Given the description of an element on the screen output the (x, y) to click on. 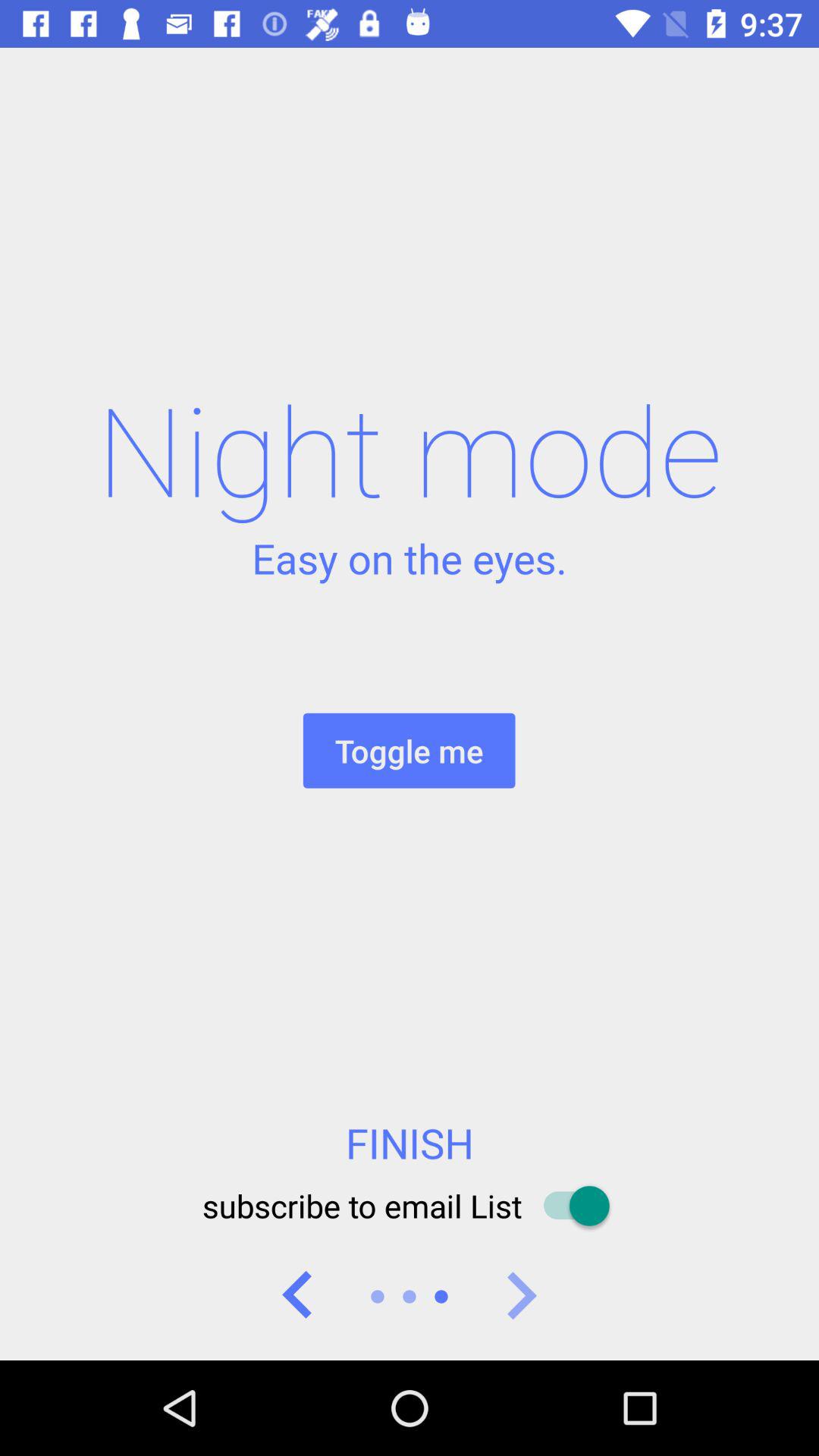
go to previous page (297, 1296)
